Given the description of an element on the screen output the (x, y) to click on. 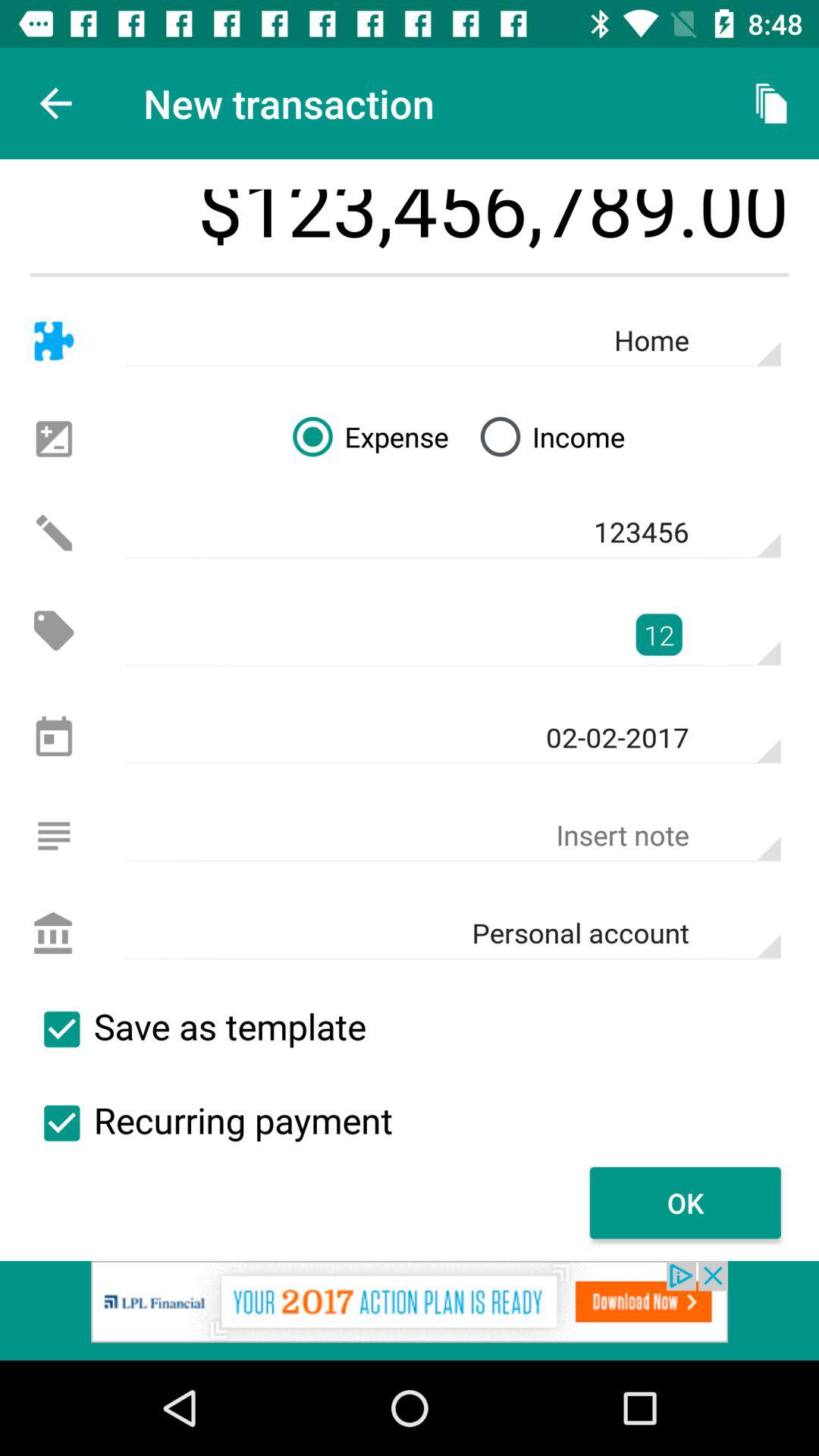
open advertisement (409, 1310)
